Given the description of an element on the screen output the (x, y) to click on. 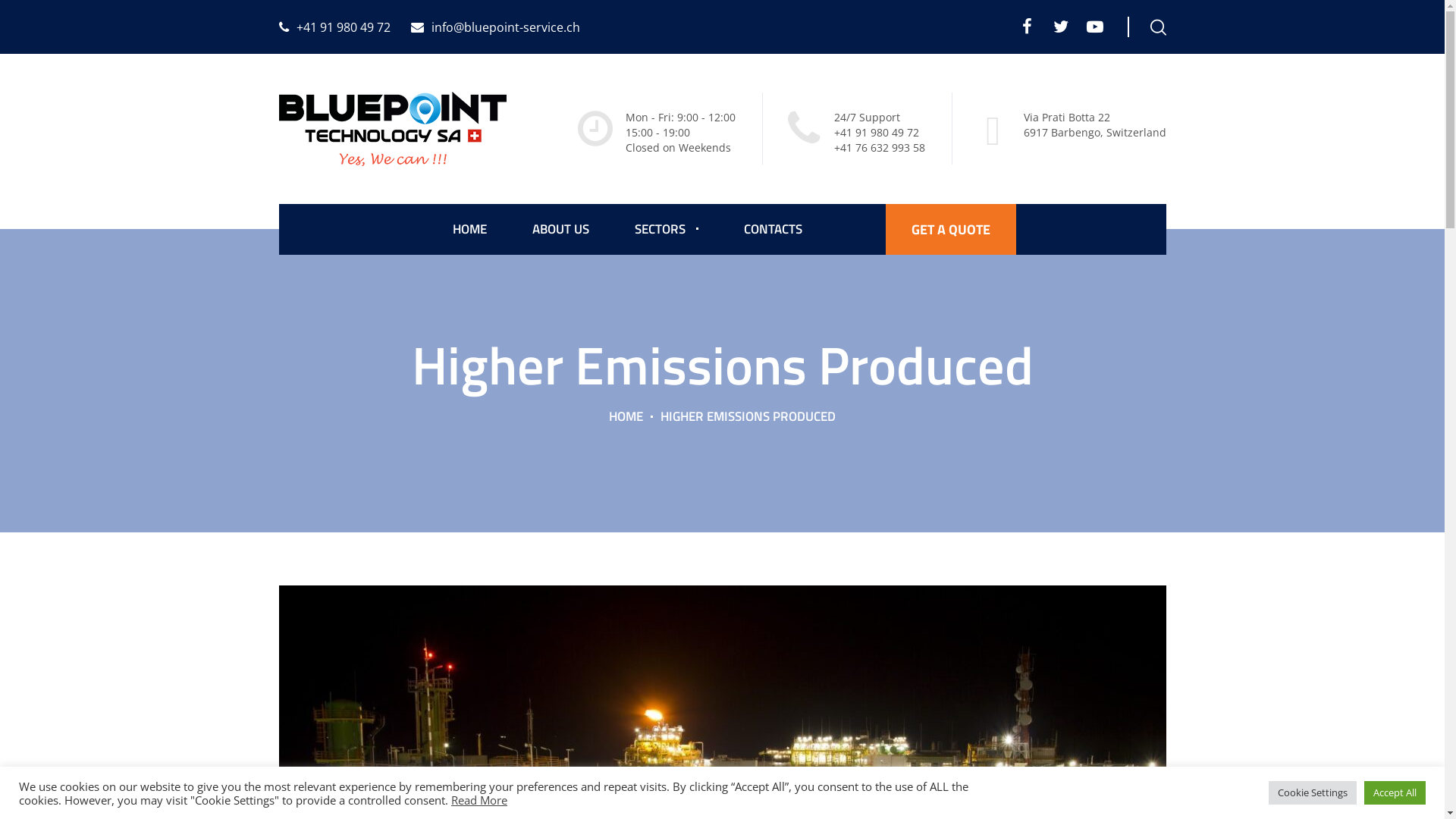
HOME Element type: text (468, 228)
Youtube Element type: hover (1094, 26)
Accept All Element type: text (1394, 792)
+41 91 980 49 72 Element type: text (334, 26)
info@bluepoint-service.ch Element type: text (495, 26)
GET A QUOTE Element type: text (950, 228)
Facebook Element type: hover (1026, 26)
SECTORS Element type: text (665, 228)
CONTACTS Element type: text (772, 228)
Twitter Element type: hover (1060, 26)
Cookie Settings Element type: text (1312, 792)
Read More Element type: text (479, 798)
HOME Element type: text (625, 416)
ABOUT US Element type: text (560, 228)
 FIND  Element type: text (18, 0)
